Given the description of an element on the screen output the (x, y) to click on. 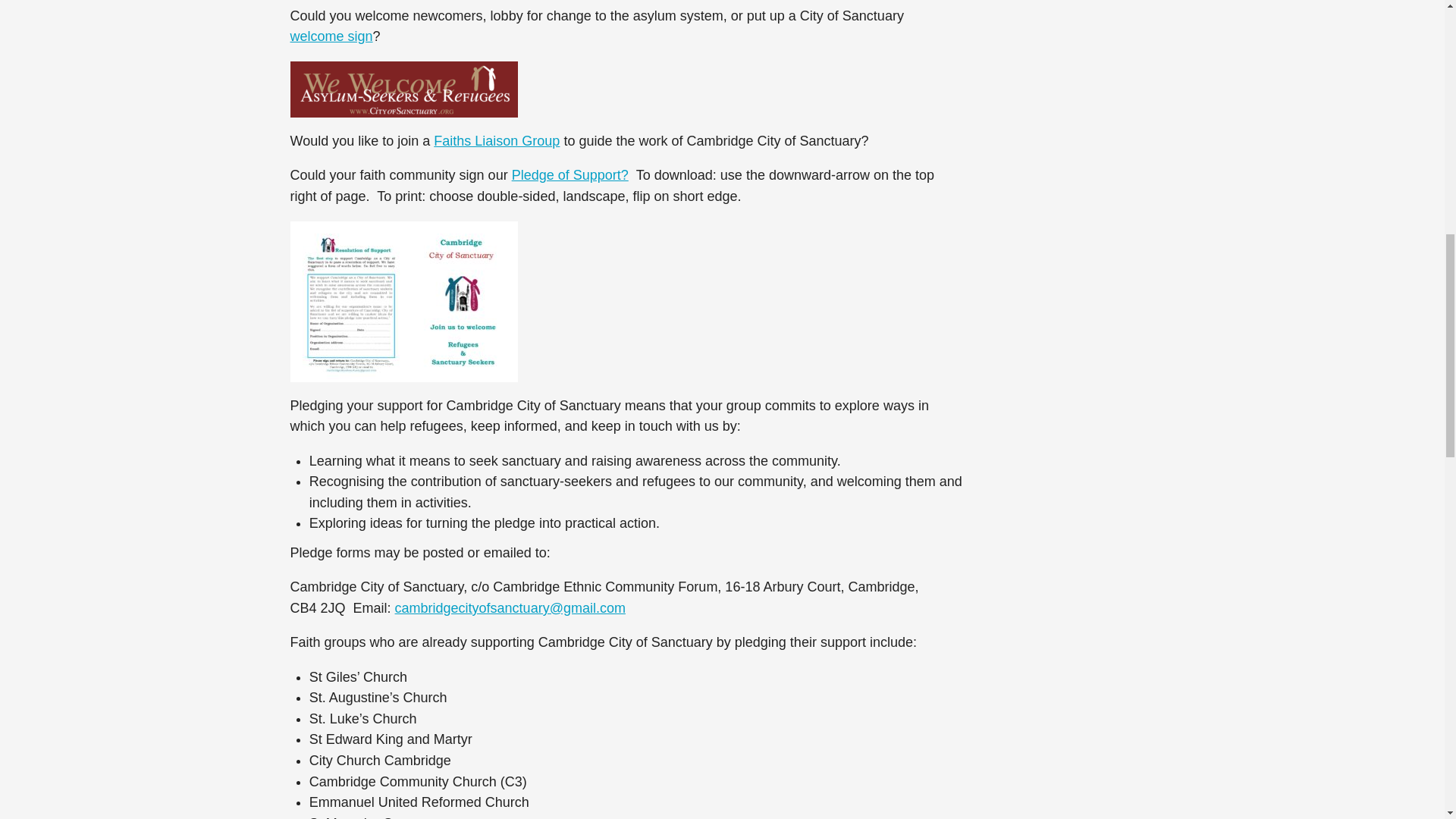
Faiths Liaison Group (496, 140)
welcome sign (330, 36)
Pledge of Support? (570, 174)
